Given the description of an element on the screen output the (x, y) to click on. 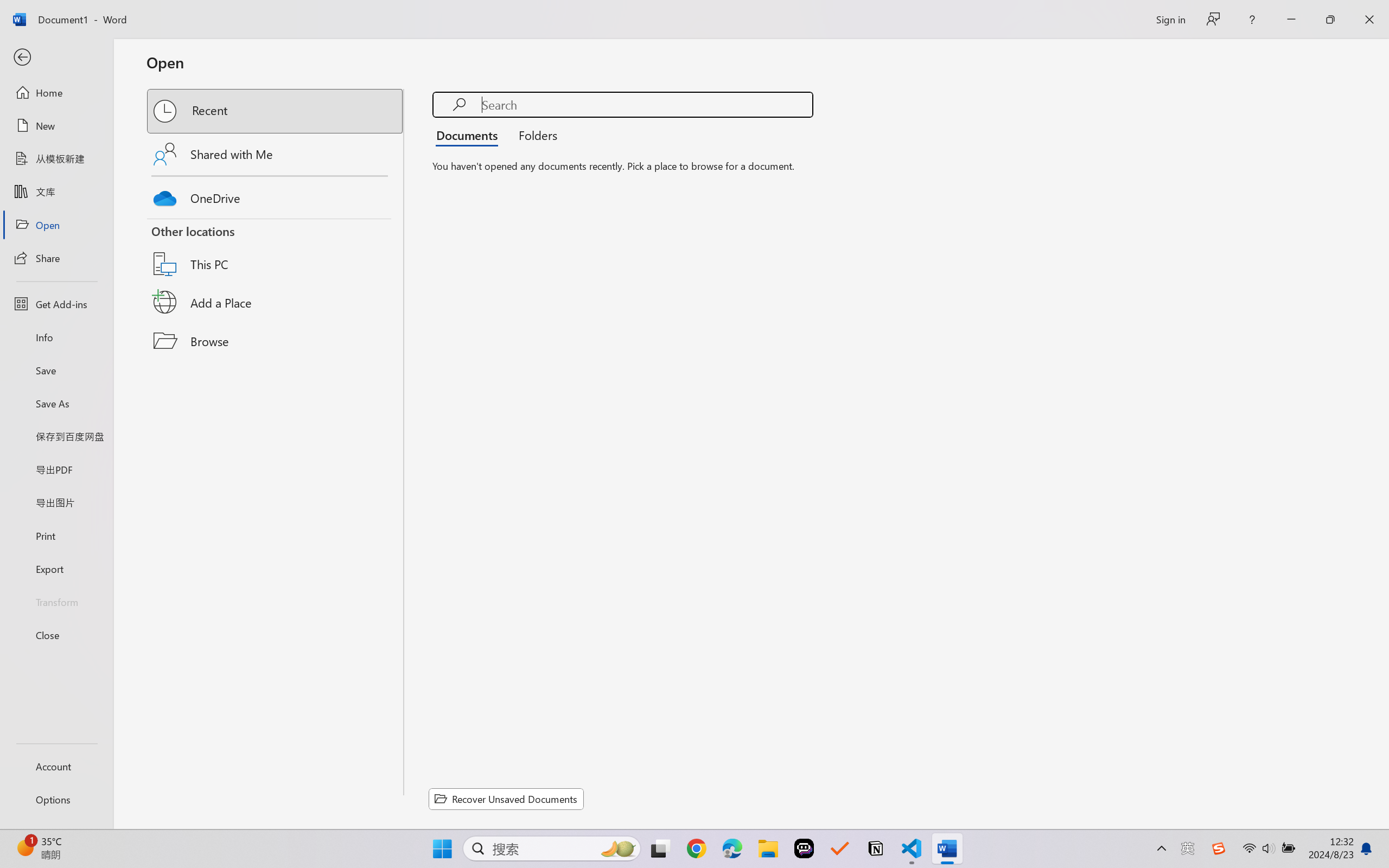
OneDrive (275, 195)
Folders (534, 134)
Browse (275, 340)
Info (56, 337)
Add a Place (275, 302)
Print (56, 535)
